Given the description of an element on the screen output the (x, y) to click on. 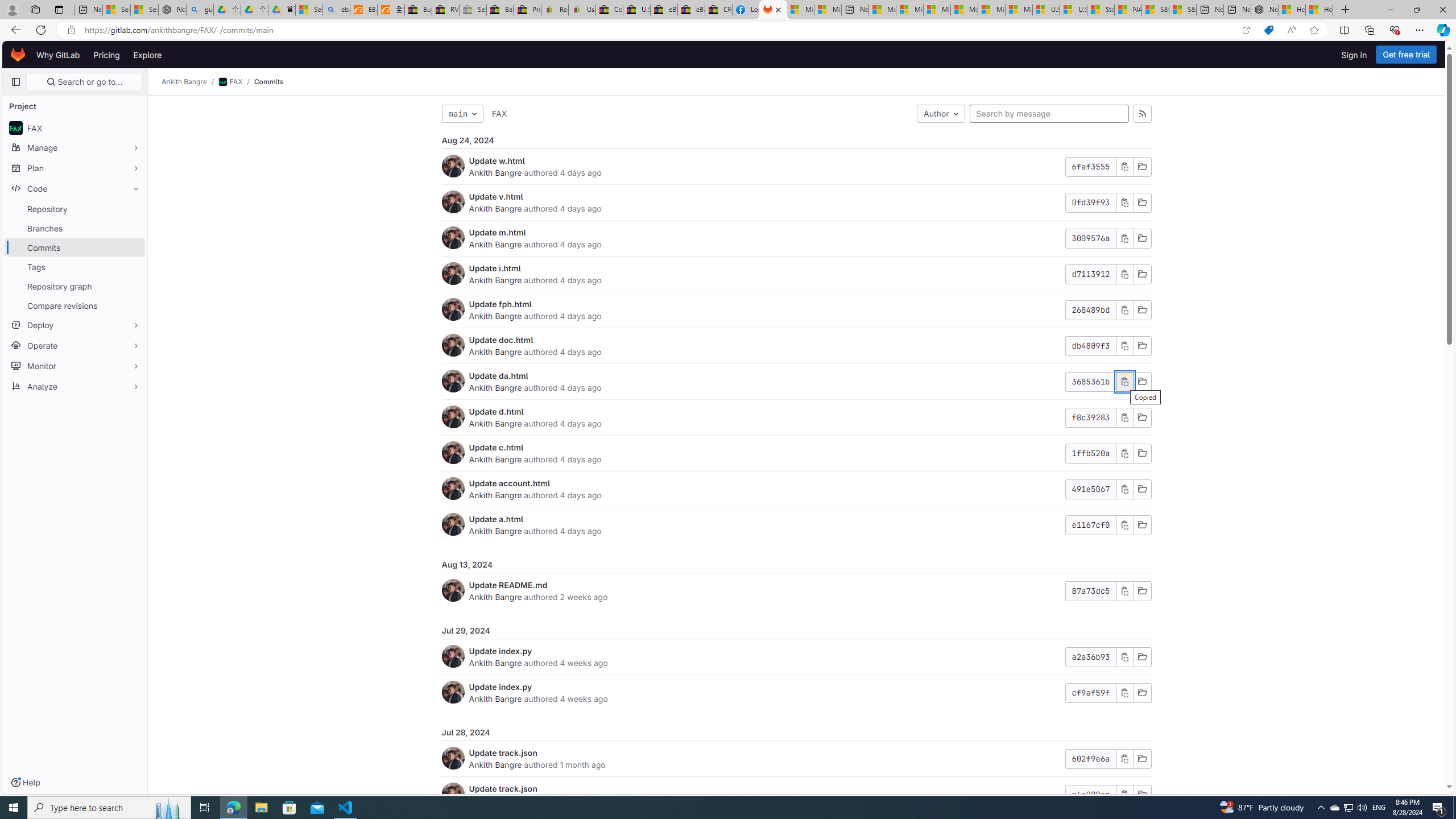
Sign in (1353, 54)
Manage (74, 147)
Class: s16 (1142, 794)
Operate (74, 344)
Copied (1124, 381)
Ankith Bangre's avatar (452, 793)
Compare revisions (74, 305)
Compare revisions (74, 305)
FAX (499, 112)
Update c.html (496, 447)
Update track.json (502, 788)
main (462, 113)
